Given the description of an element on the screen output the (x, y) to click on. 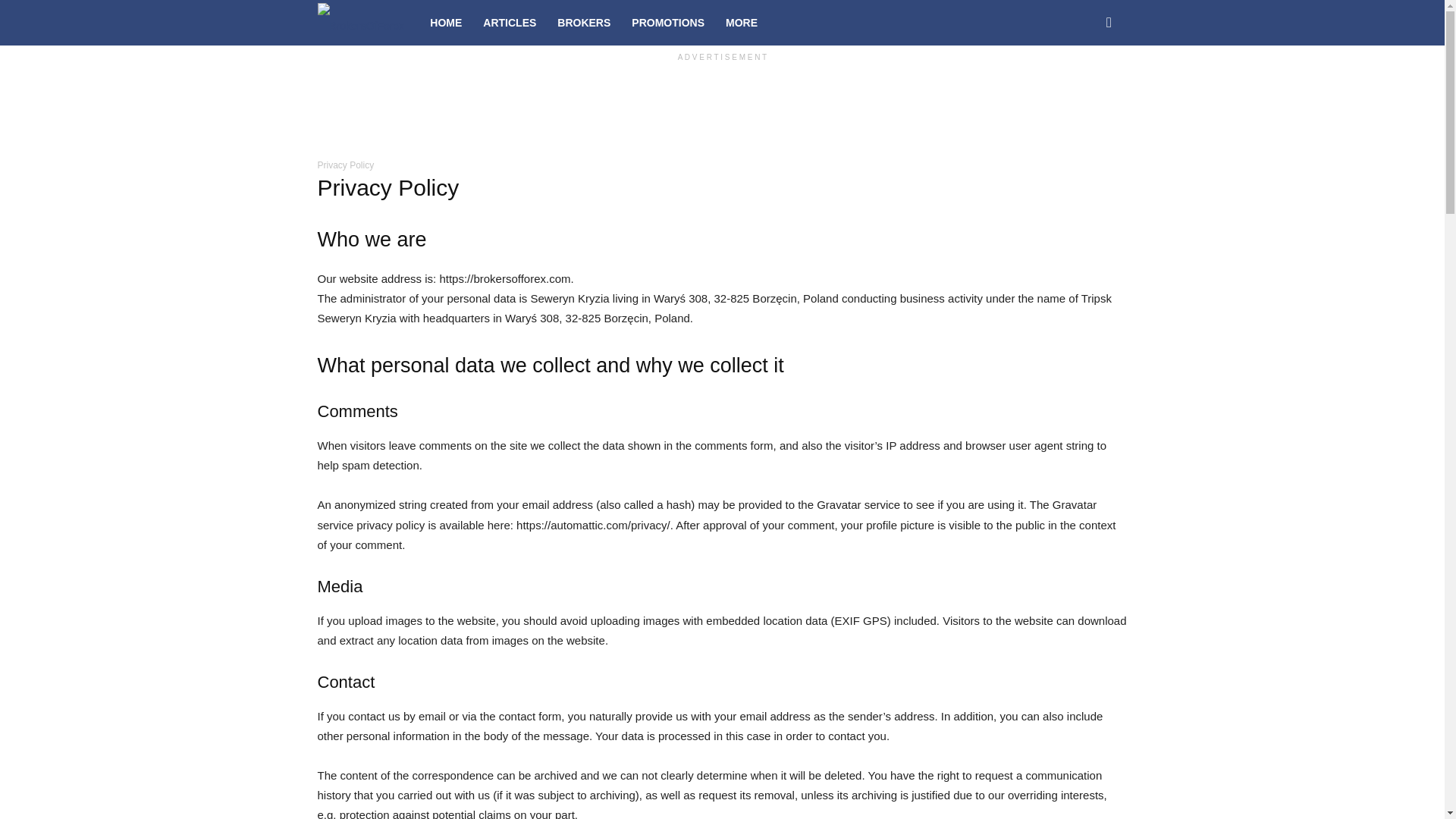
ARTICLES (509, 22)
HOME (445, 22)
BrokersOfForex.com (368, 22)
BrokersOfForex (360, 22)
